Given the description of an element on the screen output the (x, y) to click on. 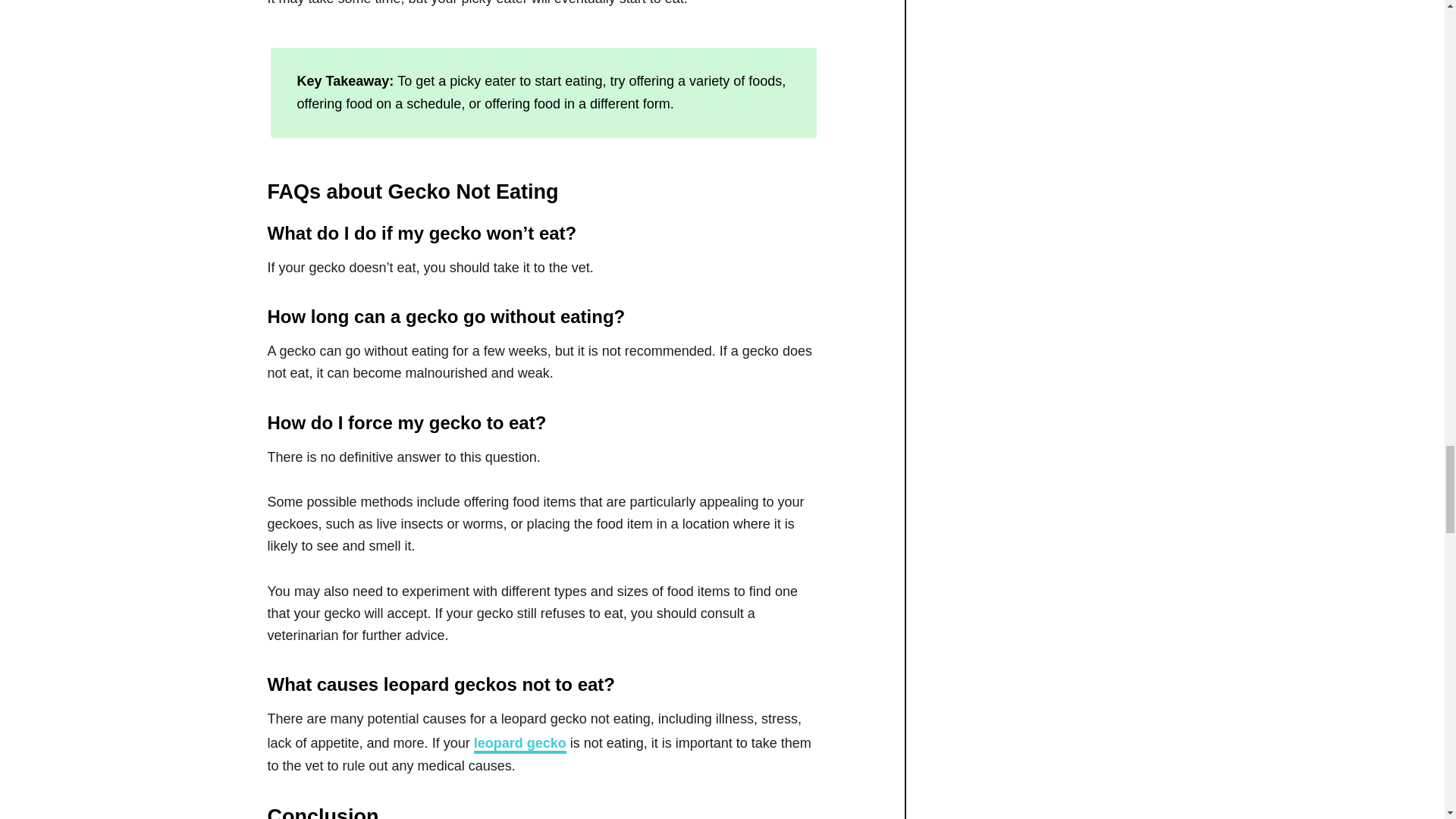
leopard gecko (520, 744)
